Given the description of an element on the screen output the (x, y) to click on. 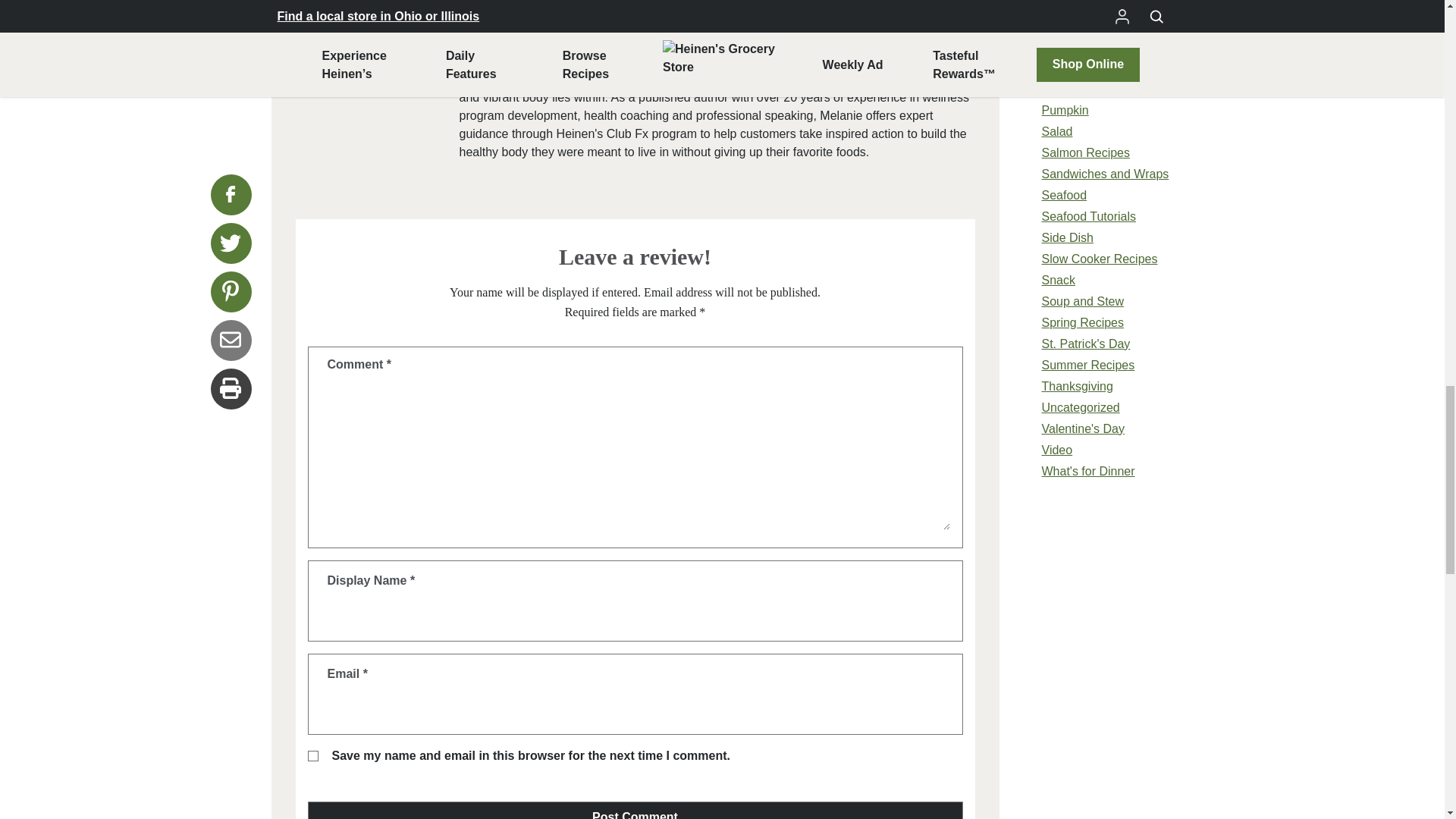
Post Comment (634, 810)
yes (312, 756)
